Given the description of an element on the screen output the (x, y) to click on. 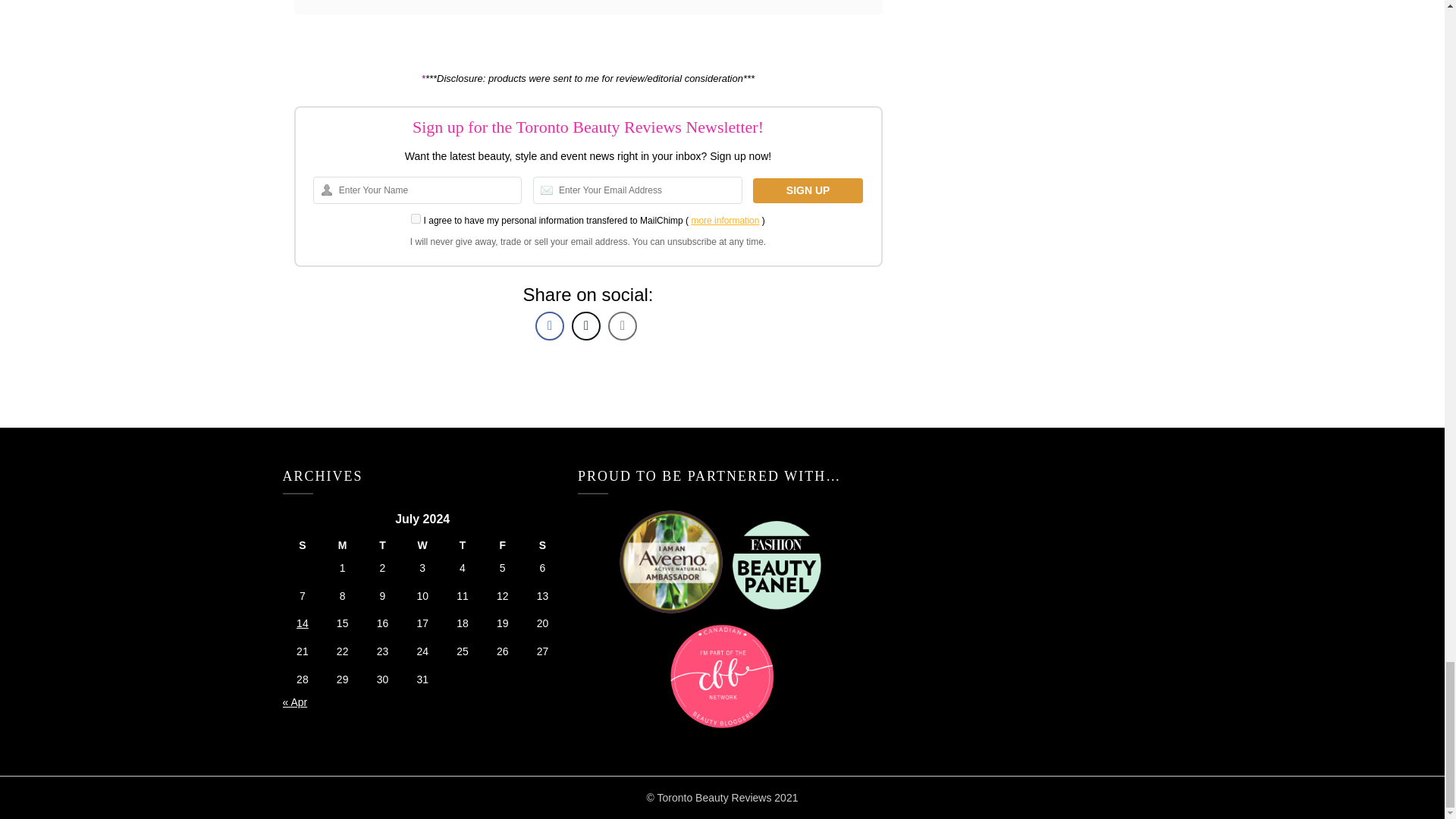
on (415, 218)
Saturday (542, 545)
Wednesday (422, 545)
Tuesday (382, 545)
SIGN UP (807, 190)
Friday (501, 545)
Thursday (462, 545)
Monday (341, 545)
Sunday (301, 545)
